Given the description of an element on the screen output the (x, y) to click on. 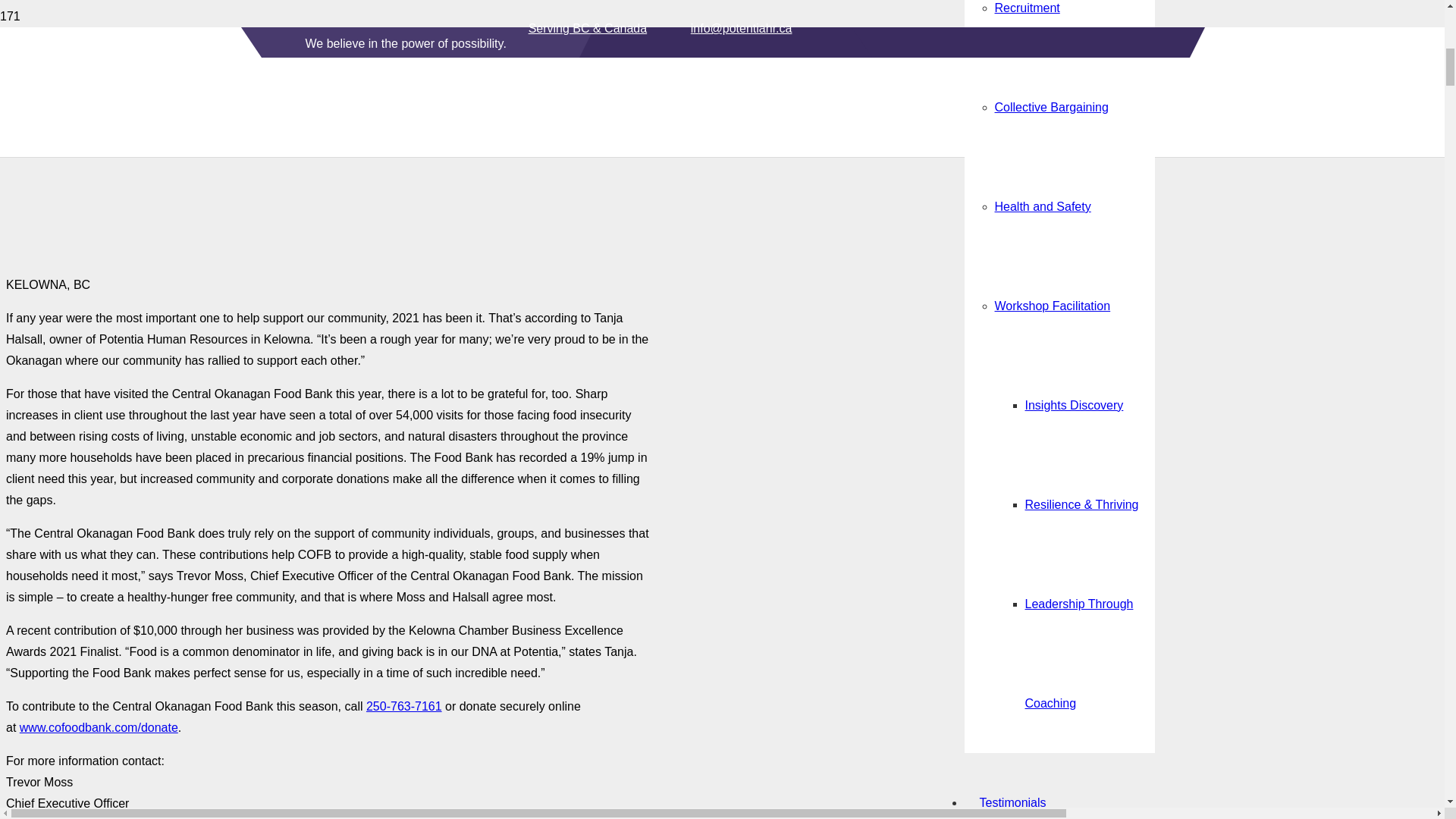
Careers (1000, 82)
News (994, 182)
Contact Us (1008, 281)
